Given the description of an element on the screen output the (x, y) to click on. 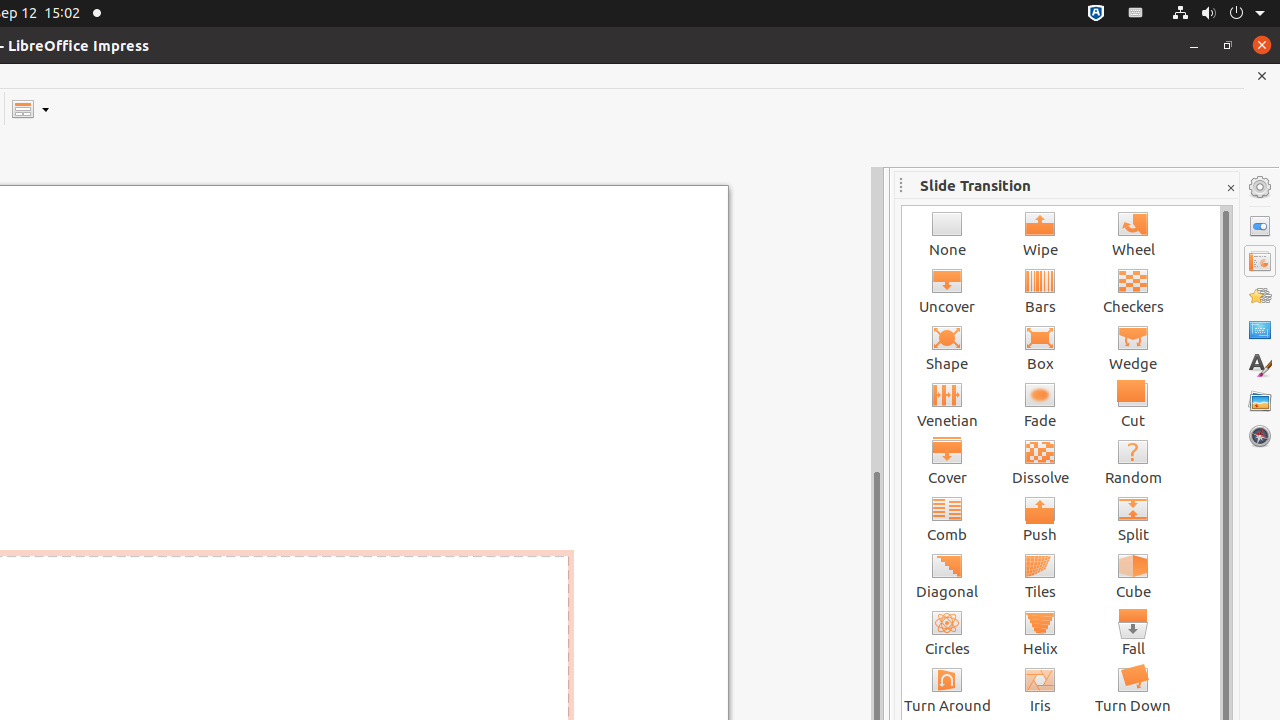
Comb Element type: list-item (947, 518)
System Element type: menu (1218, 13)
Checkers Element type: list-item (1133, 290)
Shape Element type: list-item (947, 347)
Cover Element type: list-item (947, 461)
